Given the description of an element on the screen output the (x, y) to click on. 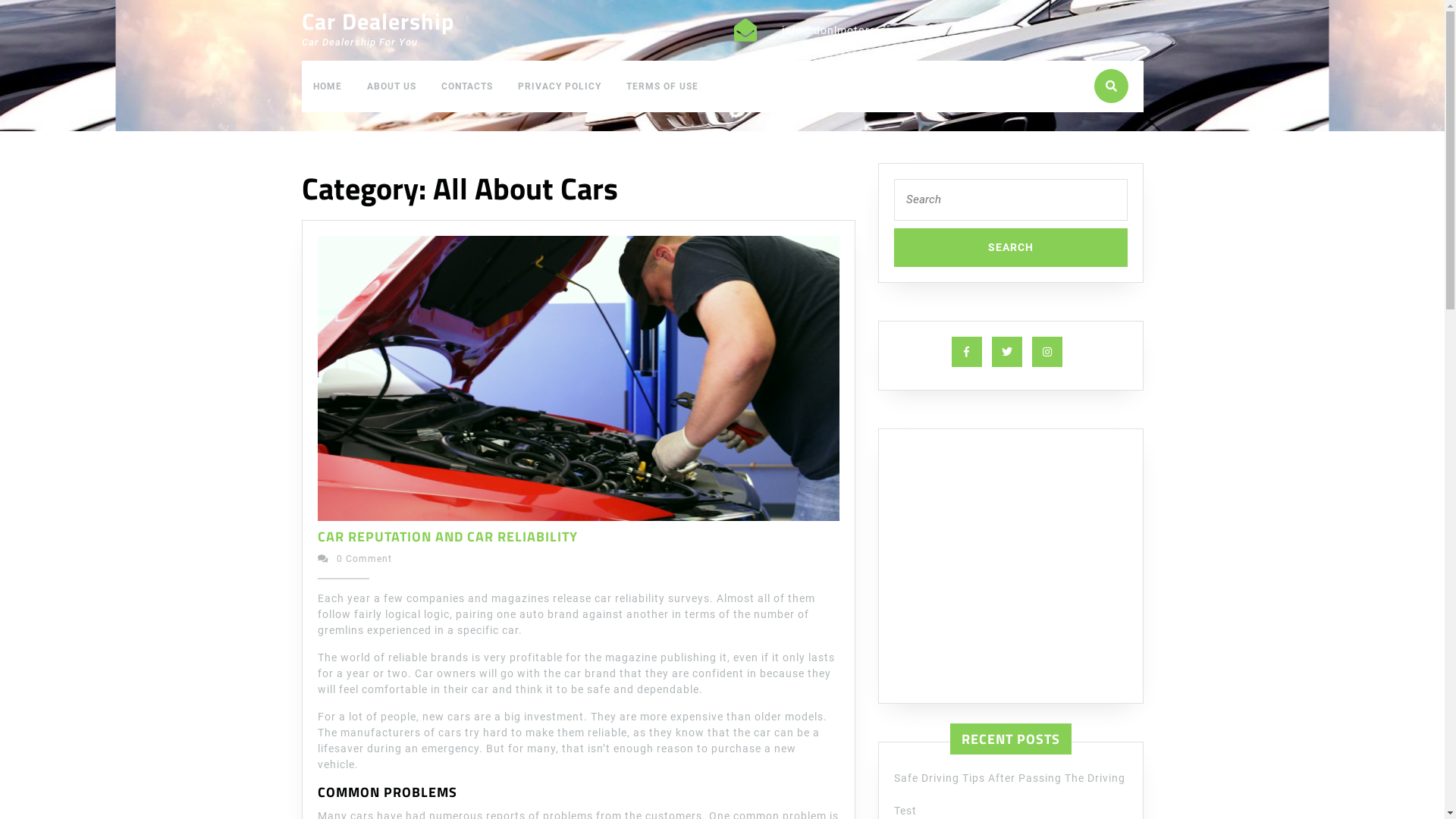
Twitter Element type: text (1010, 351)
ABOUT US Element type: text (390, 86)
CONTACTS Element type: text (466, 86)
Safe Driving Tips After Passing The Driving Test Element type: text (1008, 793)
Car Dealership Element type: text (377, 20)
TERMS OF USE Element type: text (661, 86)
PRIVACY POLICY Element type: text (559, 86)
Instagram Element type: text (1050, 351)
Search Element type: text (1009, 246)
HOME Element type: text (327, 86)
Facebook Element type: text (969, 351)
